Given the description of an element on the screen output the (x, y) to click on. 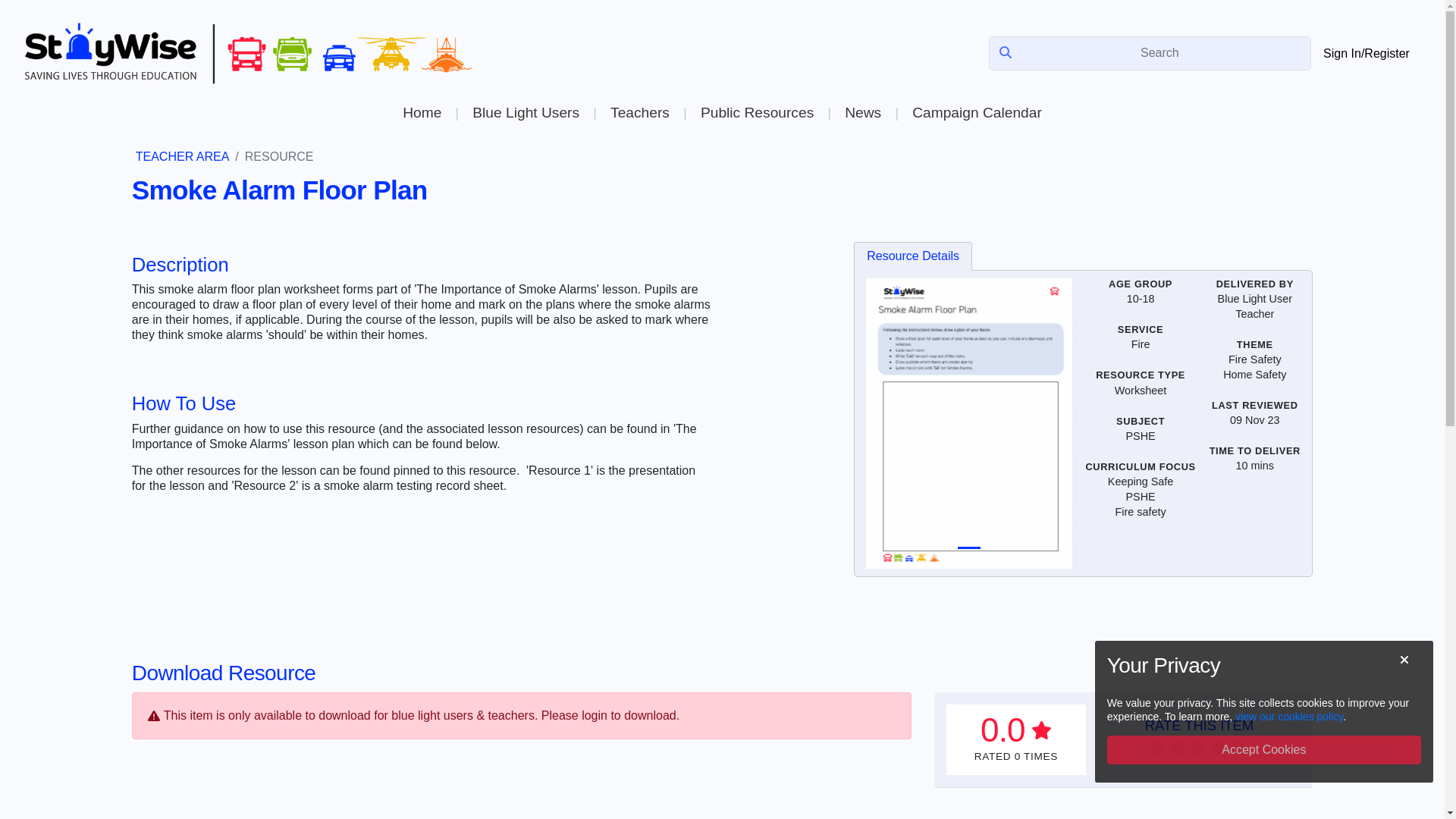
Home (421, 112)
Resource Details (912, 256)
Accept Cookies (1263, 749)
view our cookies policy (1288, 715)
TEACHER AREA (182, 155)
Campaign Calendar (976, 112)
News (862, 112)
Teachers (639, 112)
Blue Light Users (525, 112)
Public Resources (756, 112)
